Given the description of an element on the screen output the (x, y) to click on. 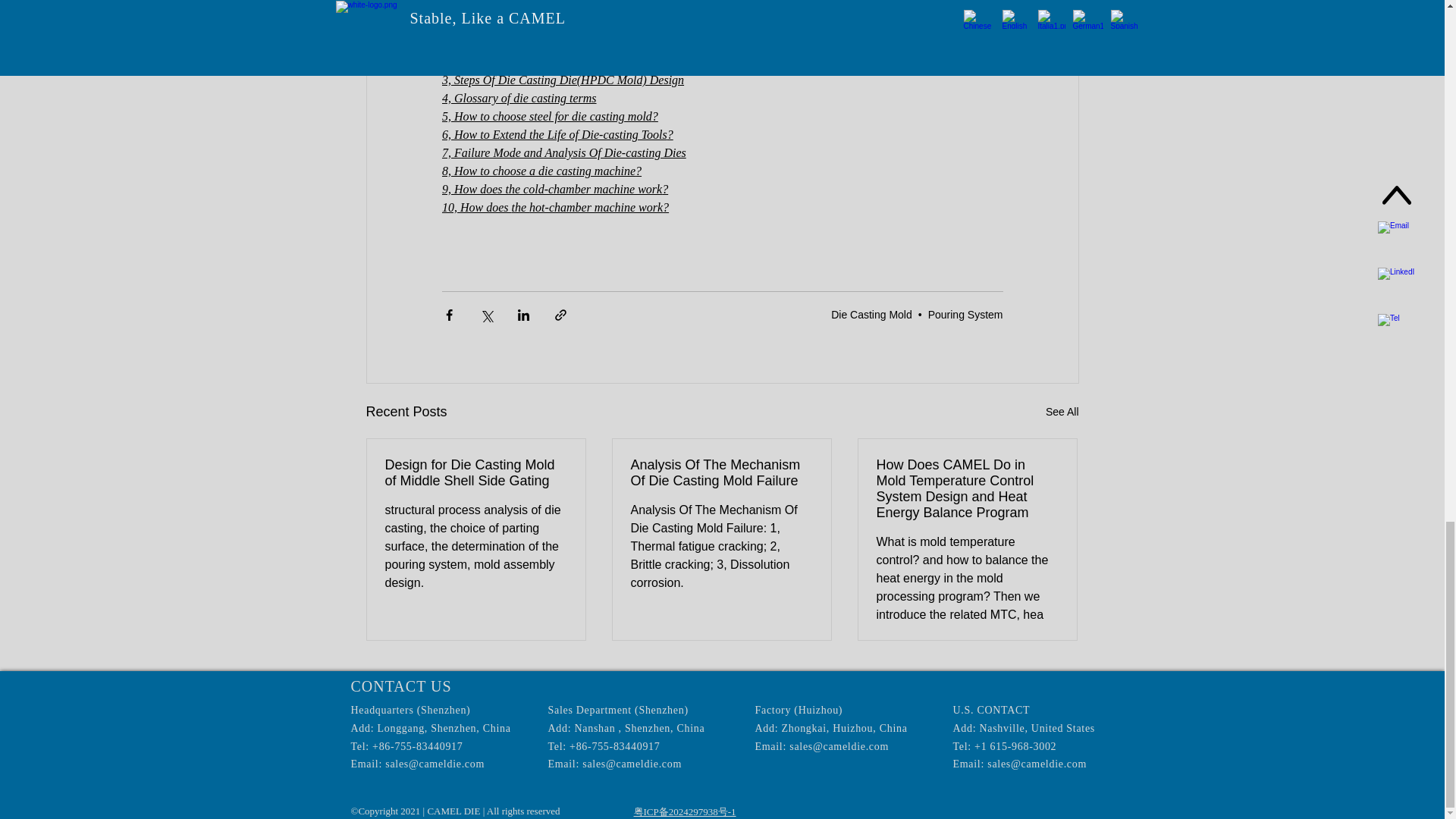
How does the cold-chamber machine work (556, 188)
How to choose a die casting machine (543, 170)
hot-chamber machine work (595, 206)
Glossary of die casting terms (523, 97)
What is die casting mold (512, 61)
What is die casting (499, 42)
How to choose steel for die casting mold (551, 115)
How to Extend the Life of Die-casting Tools (559, 133)
How does  (485, 206)
Failure Mode and Analysis Of Die-casting Dies (568, 152)
